Given the description of an element on the screen output the (x, y) to click on. 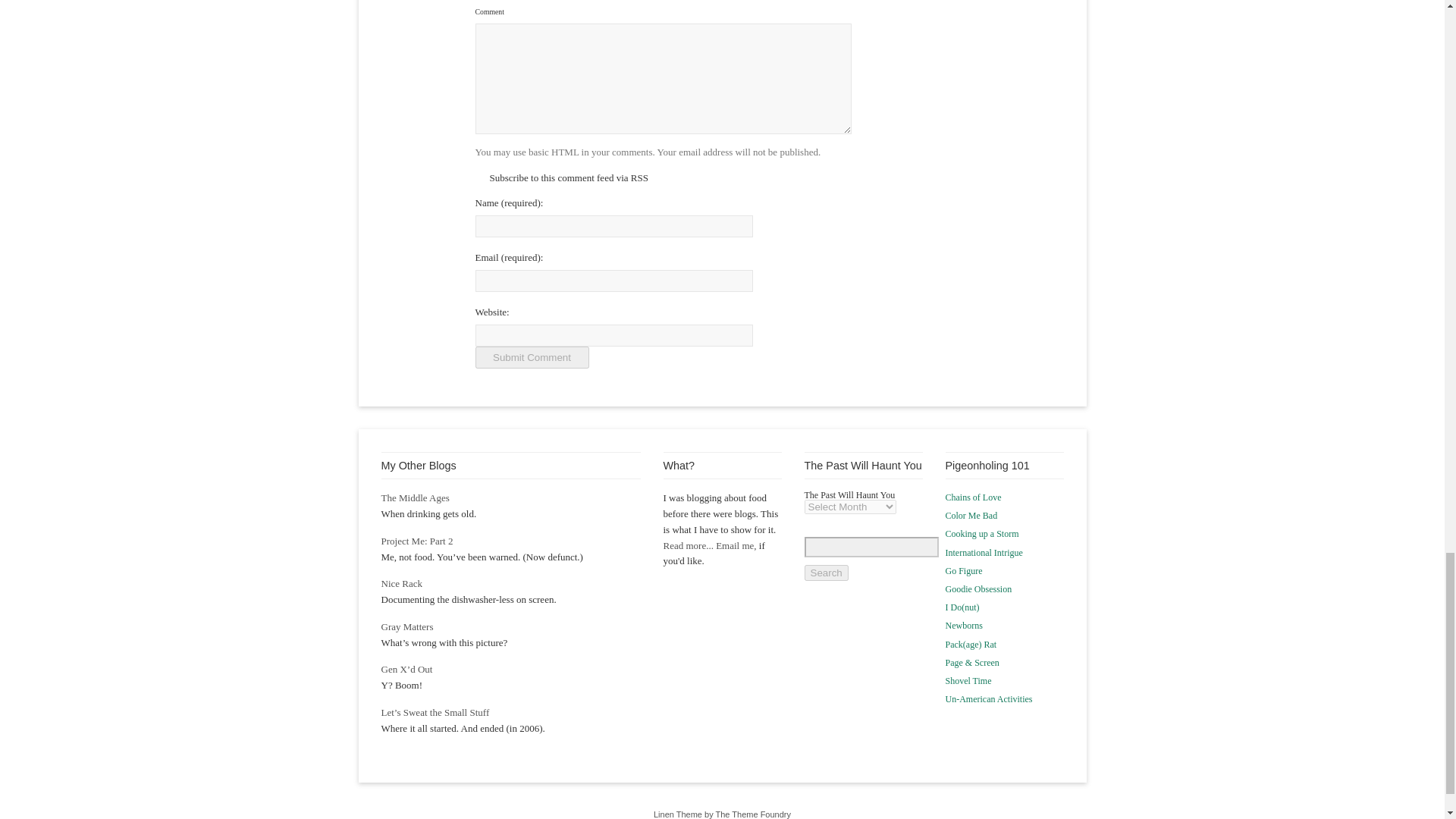
Search (825, 572)
Submit Comment (531, 357)
